Given the description of an element on the screen output the (x, y) to click on. 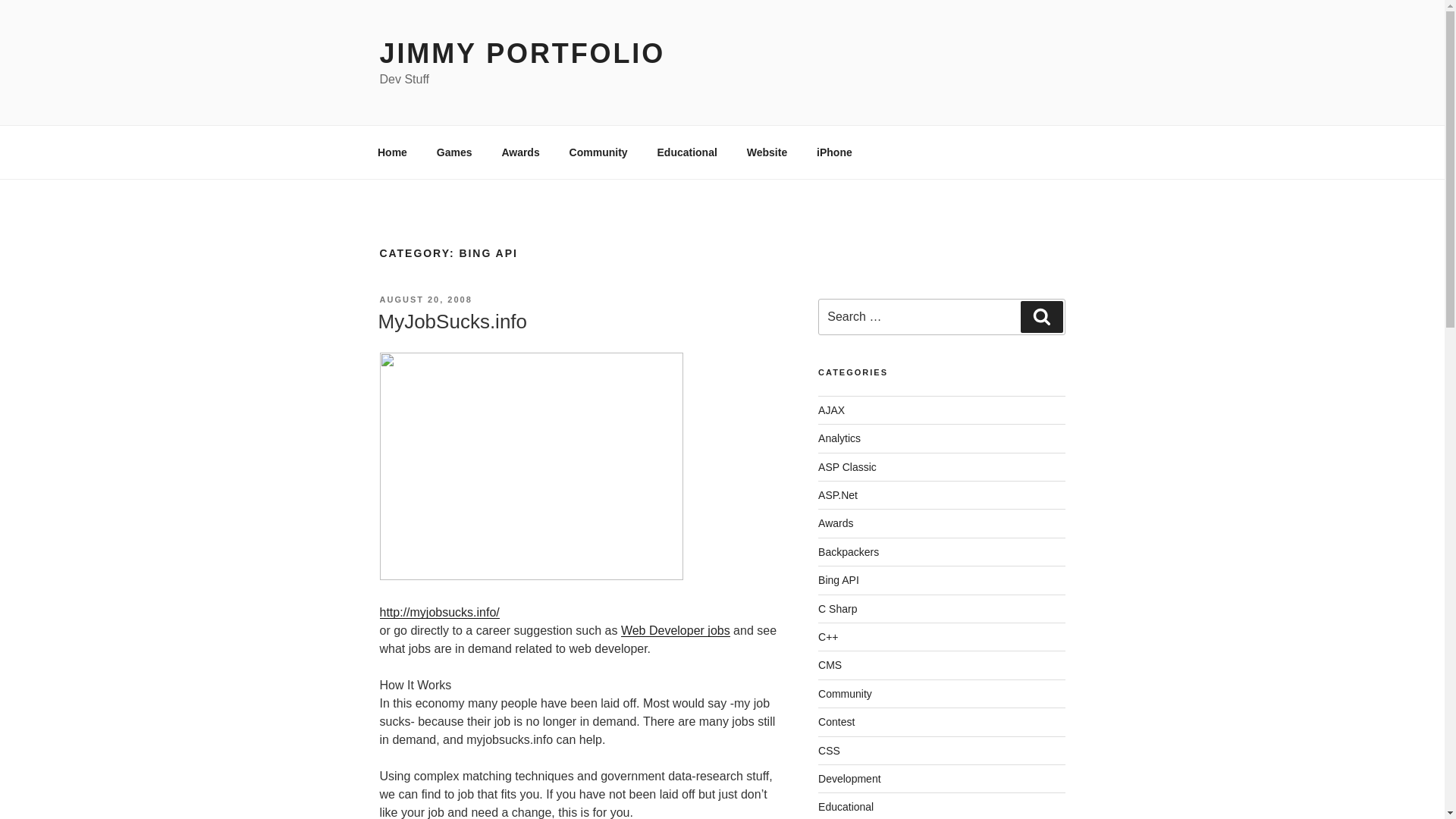
CSS (829, 750)
Bing API (838, 580)
AJAX (831, 410)
Home (392, 151)
Community (845, 693)
ASP.Net (837, 494)
Backpackers (848, 551)
JIMMY PORTFOLIO (521, 52)
Contest (836, 721)
C Sharp (837, 608)
Games (453, 151)
ASP Classic (847, 467)
Web Developer jobs (675, 630)
iPhone (834, 151)
Website (766, 151)
